Given the description of an element on the screen output the (x, y) to click on. 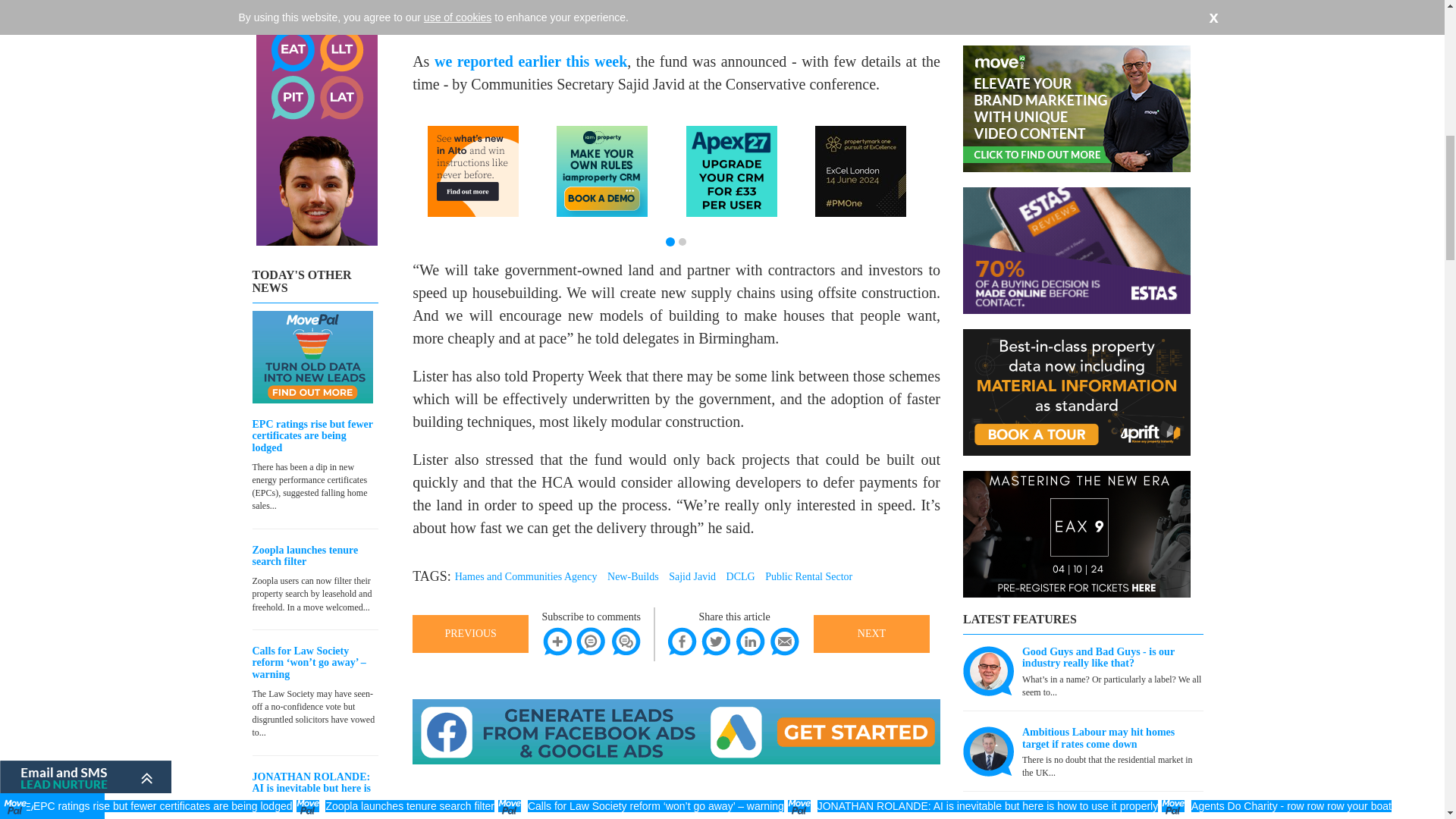
Alto - Zoopla (473, 171)
MovePal (311, 357)
Property Mark (860, 171)
Apex27 (731, 171)
Save for later (556, 641)
iamproperty (601, 171)
